Given the description of an element on the screen output the (x, y) to click on. 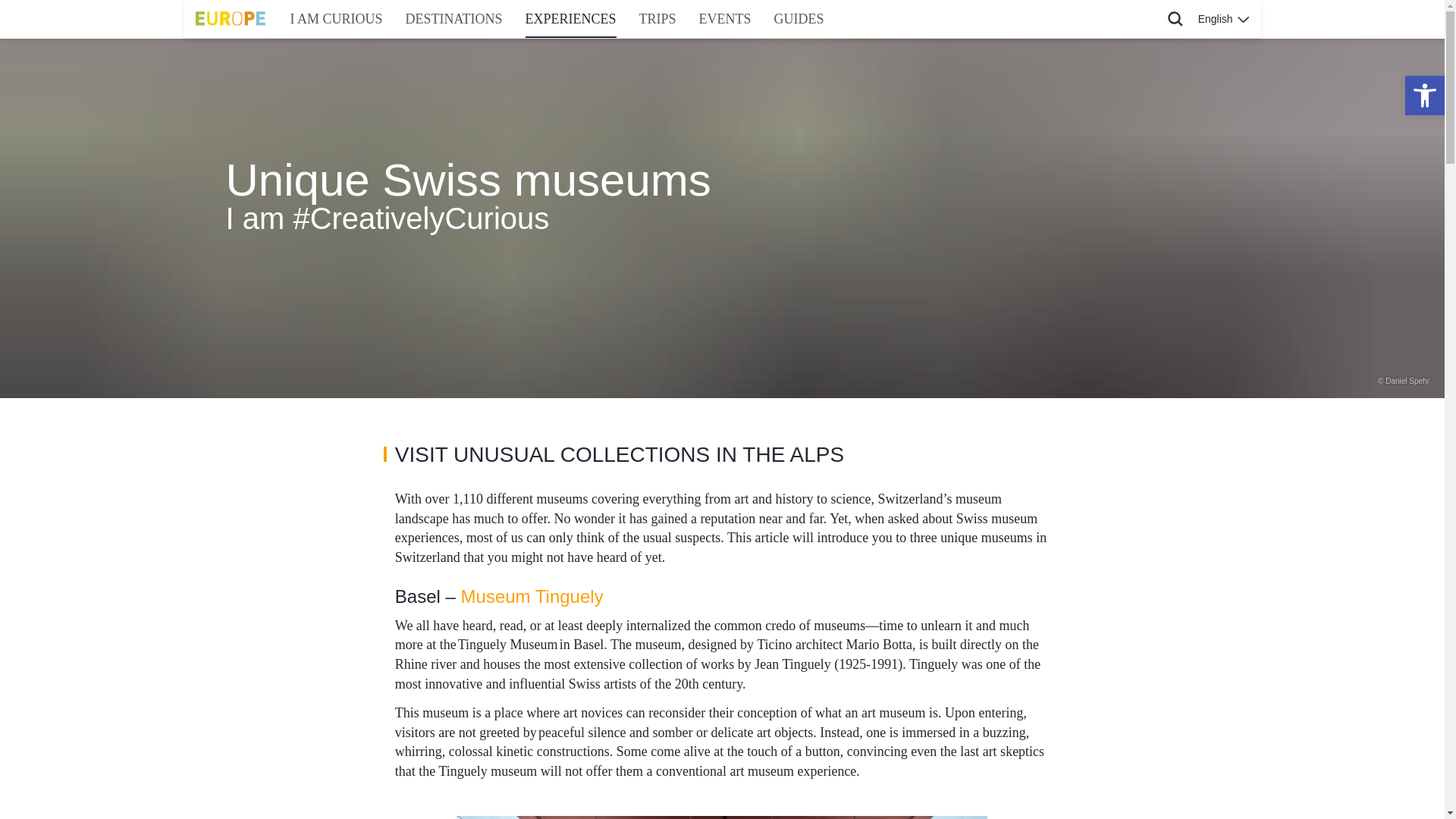
Accessibility Tools (1424, 95)
English (1223, 18)
GUIDES (798, 18)
I am curious (336, 18)
TRIPS (657, 18)
EXPERIENCES (570, 18)
EVENTS (724, 18)
Events (724, 18)
Trips (657, 18)
I AM CURIOUS (336, 18)
DESTINATIONS (453, 18)
Museum Tinguely (532, 596)
Accessibility Tools (1424, 95)
Destinations (453, 18)
